Given the description of an element on the screen output the (x, y) to click on. 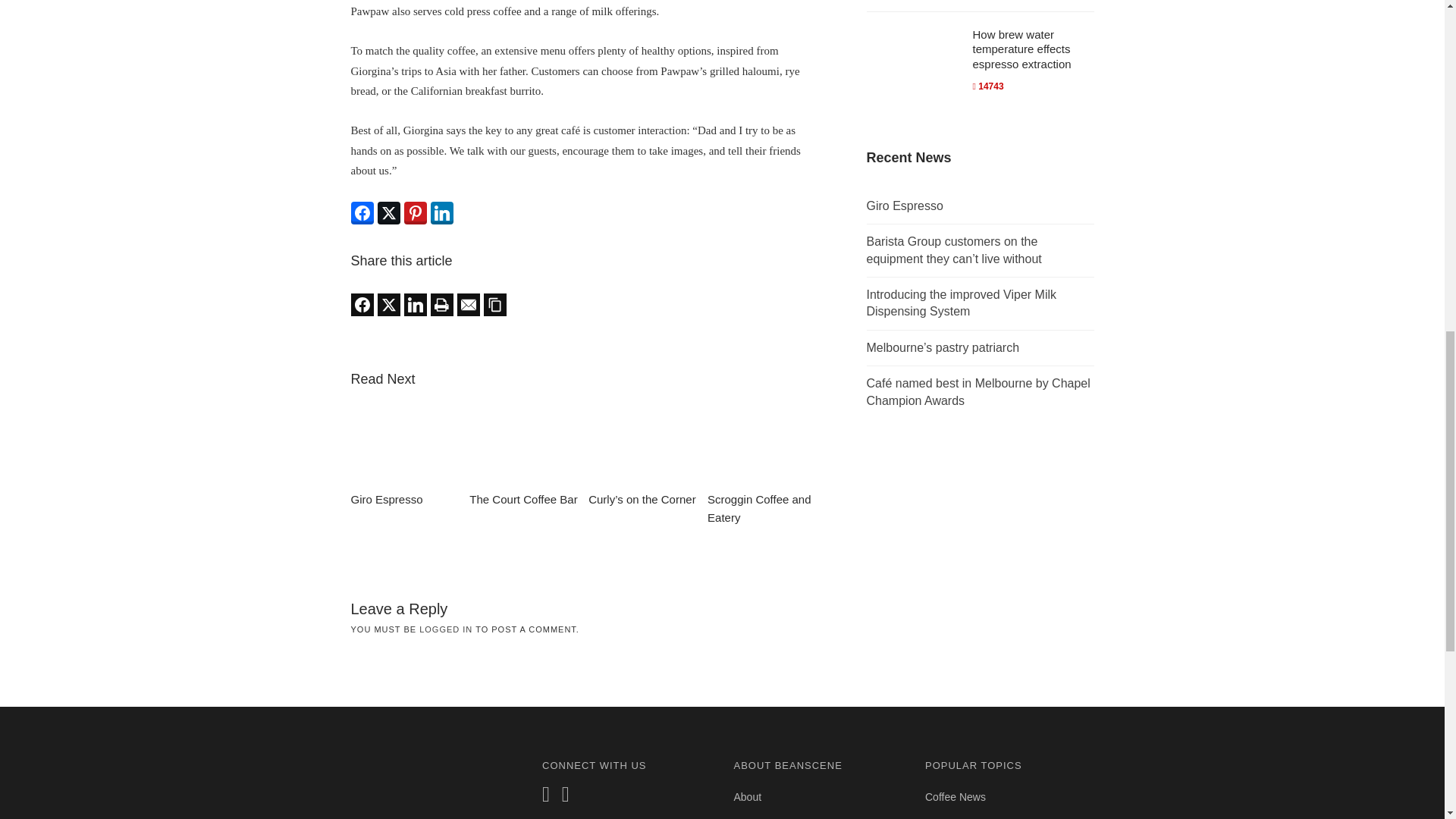
Share on Twitter (388, 212)
Share on Twitter (388, 304)
Share on Facebook (361, 304)
Share on Facebook (361, 212)
Share on LinkedIn (414, 304)
Share on Pinterest (414, 212)
Share on LinkedIn (441, 212)
